Given the description of an element on the screen output the (x, y) to click on. 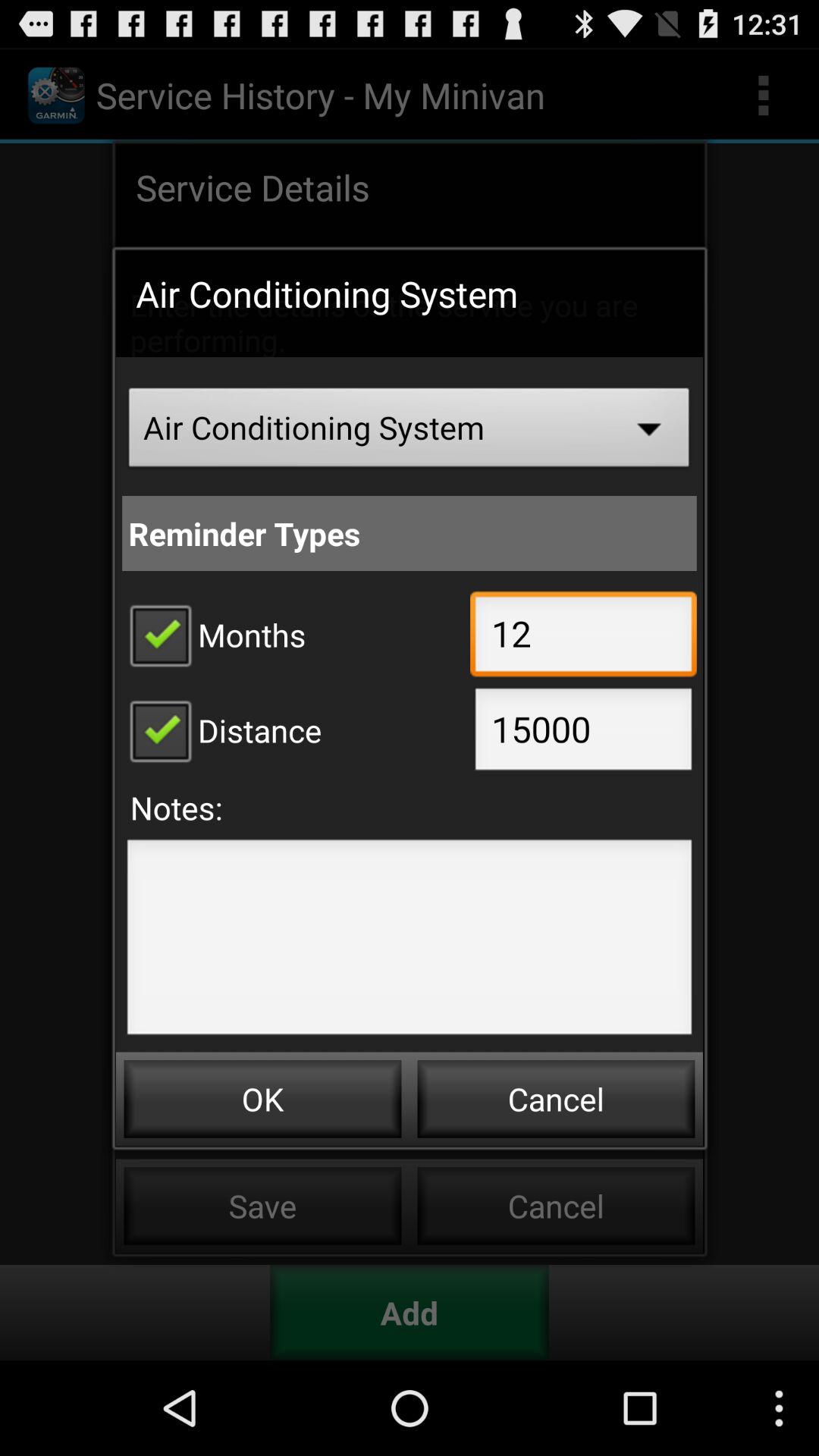
feed back to given us (409, 941)
